Given the description of an element on the screen output the (x, y) to click on. 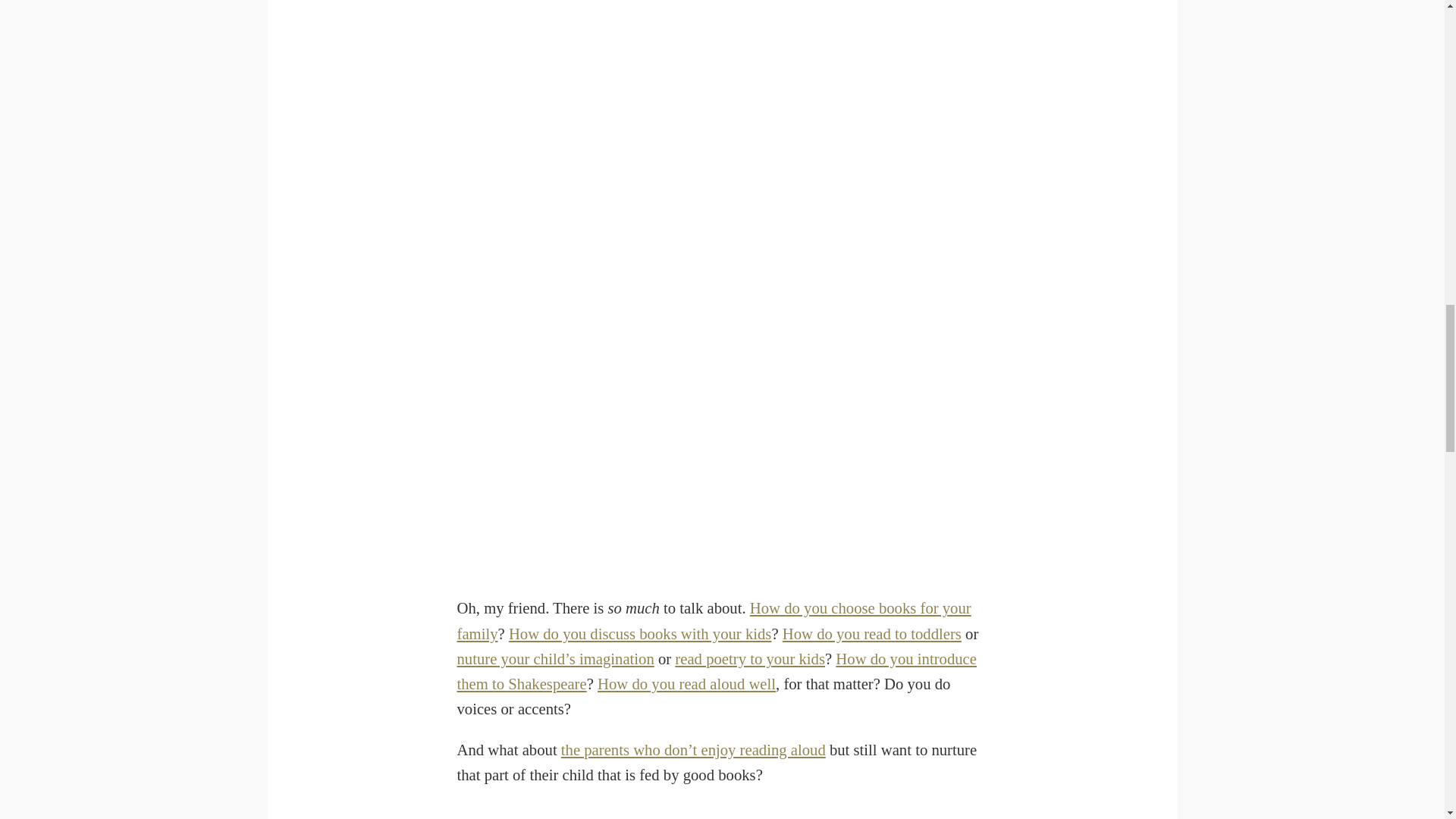
How do you choose books for your family (714, 620)
How do you read to toddlers (871, 633)
How do you discuss books with your kids (639, 633)
How do you introduce them to Shakespeare (716, 671)
How do you read aloud well (686, 683)
read poetry to your kids (750, 658)
